Given the description of an element on the screen output the (x, y) to click on. 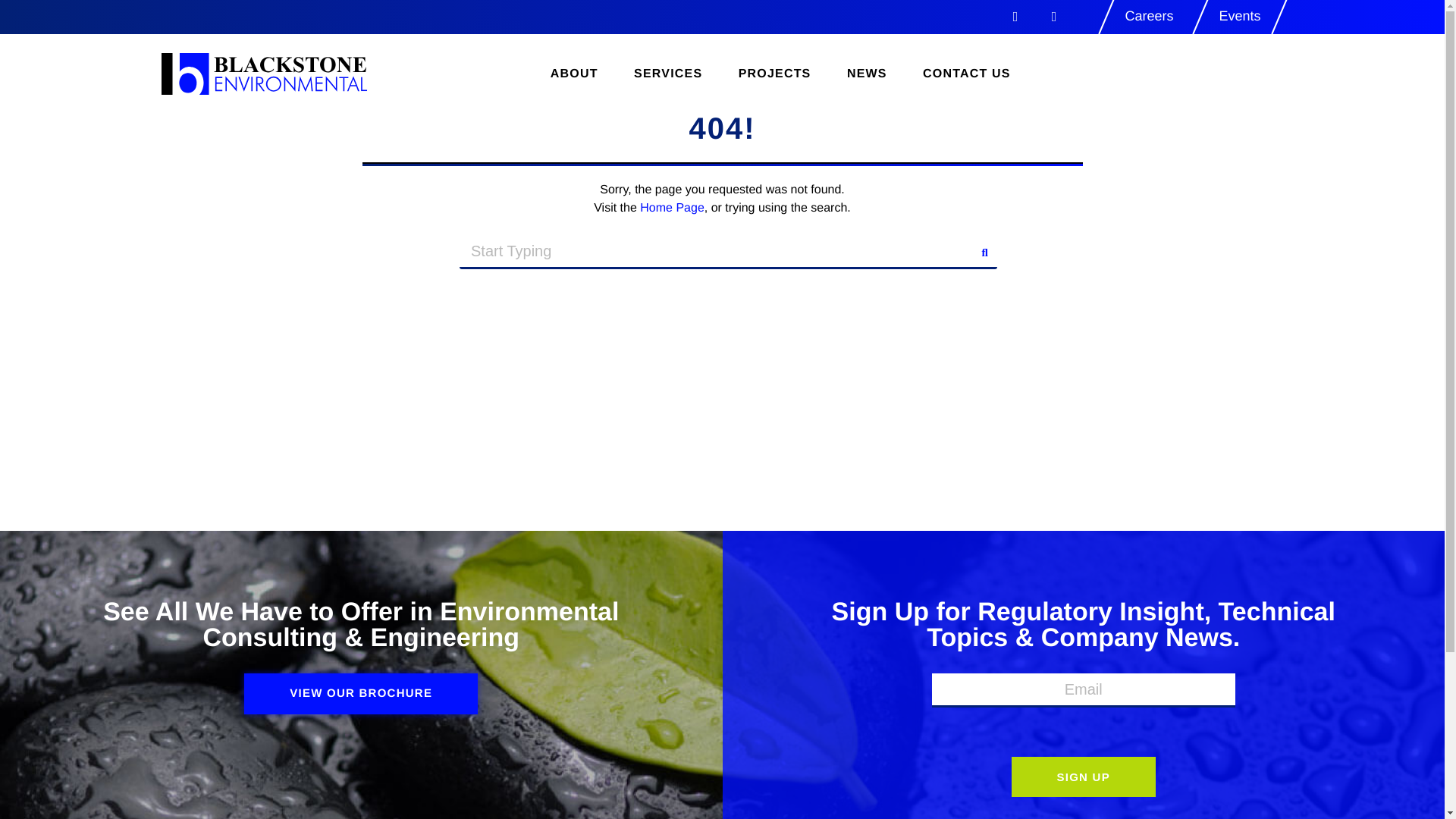
Events (1239, 15)
Events (1239, 15)
Services (668, 74)
Home Page (672, 207)
Projects (774, 74)
VIEW OUR BROCHURE (360, 693)
News (867, 74)
SERVICES (668, 74)
Sign Up (1083, 776)
ABOUT (574, 74)
NEWS (867, 74)
Search Site (728, 252)
Careers (1148, 15)
Careers (1148, 15)
About (574, 74)
